Given the description of an element on the screen output the (x, y) to click on. 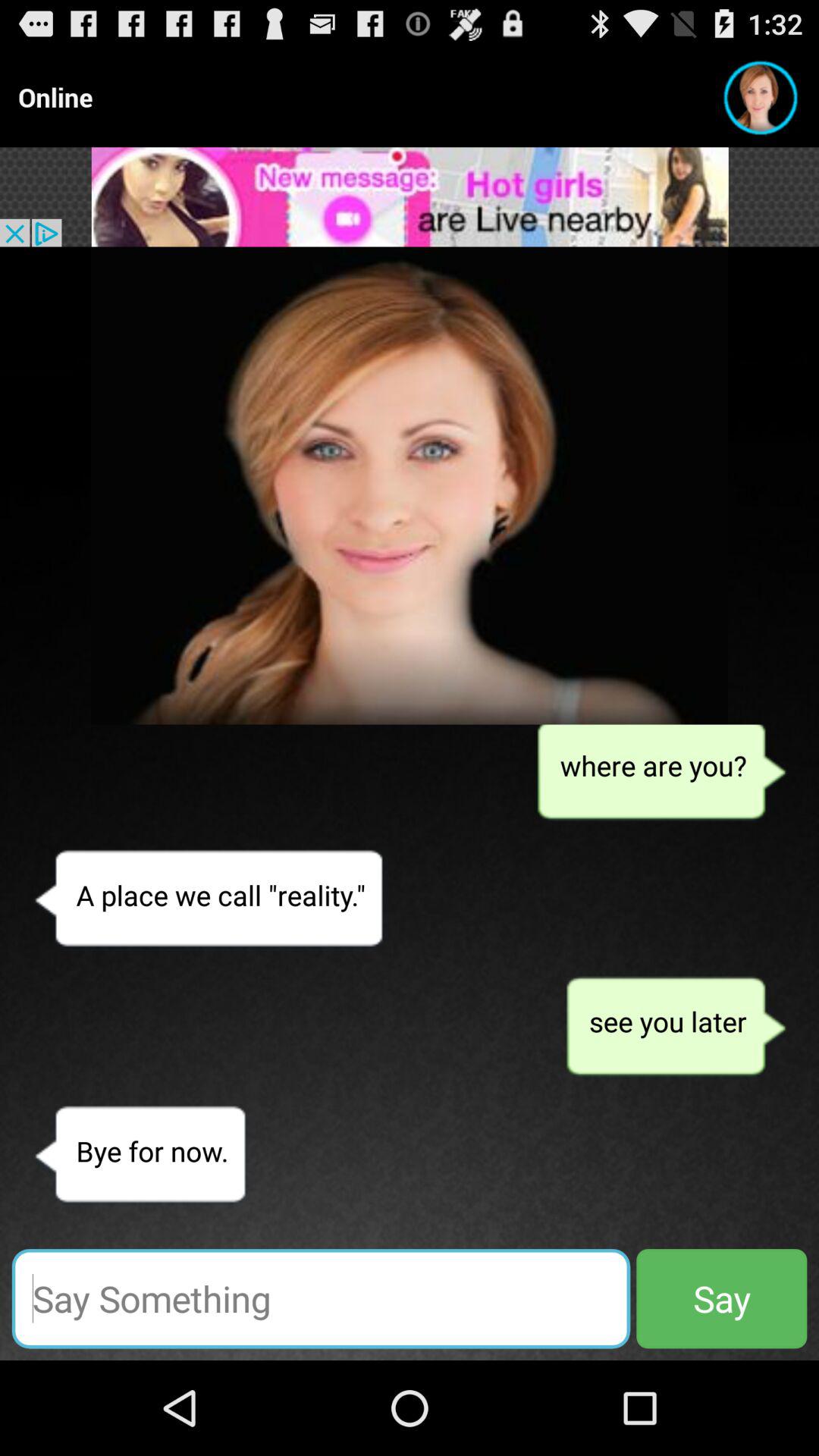
type the message (320, 1298)
